Given the description of an element on the screen output the (x, y) to click on. 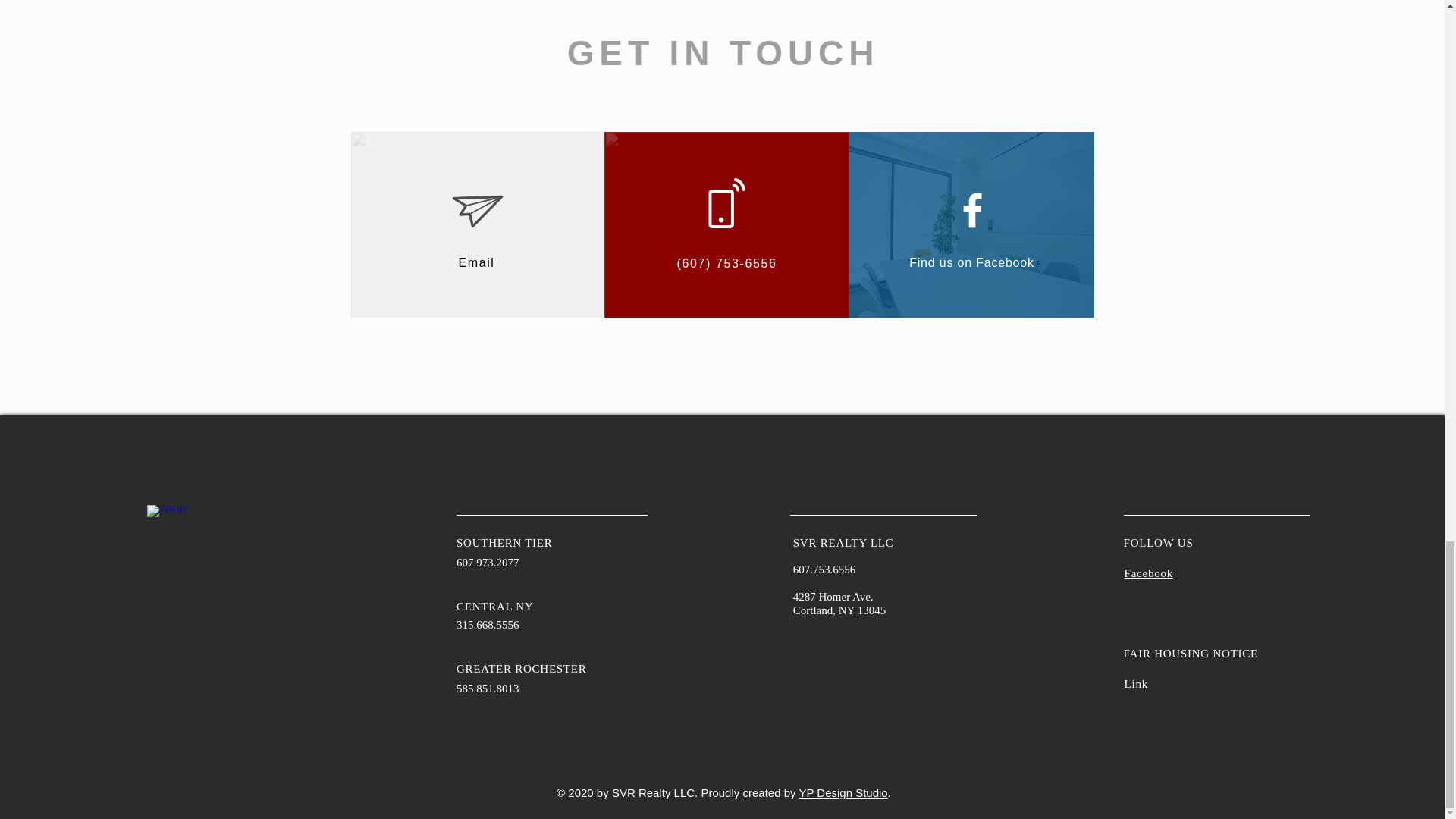
YP Design Studio (841, 792)
Link (1136, 683)
Find us on Facebook (970, 262)
FAIR HOUSING NOTICE (1190, 653)
Email (476, 262)
Facebook (1148, 573)
